Given the description of an element on the screen output the (x, y) to click on. 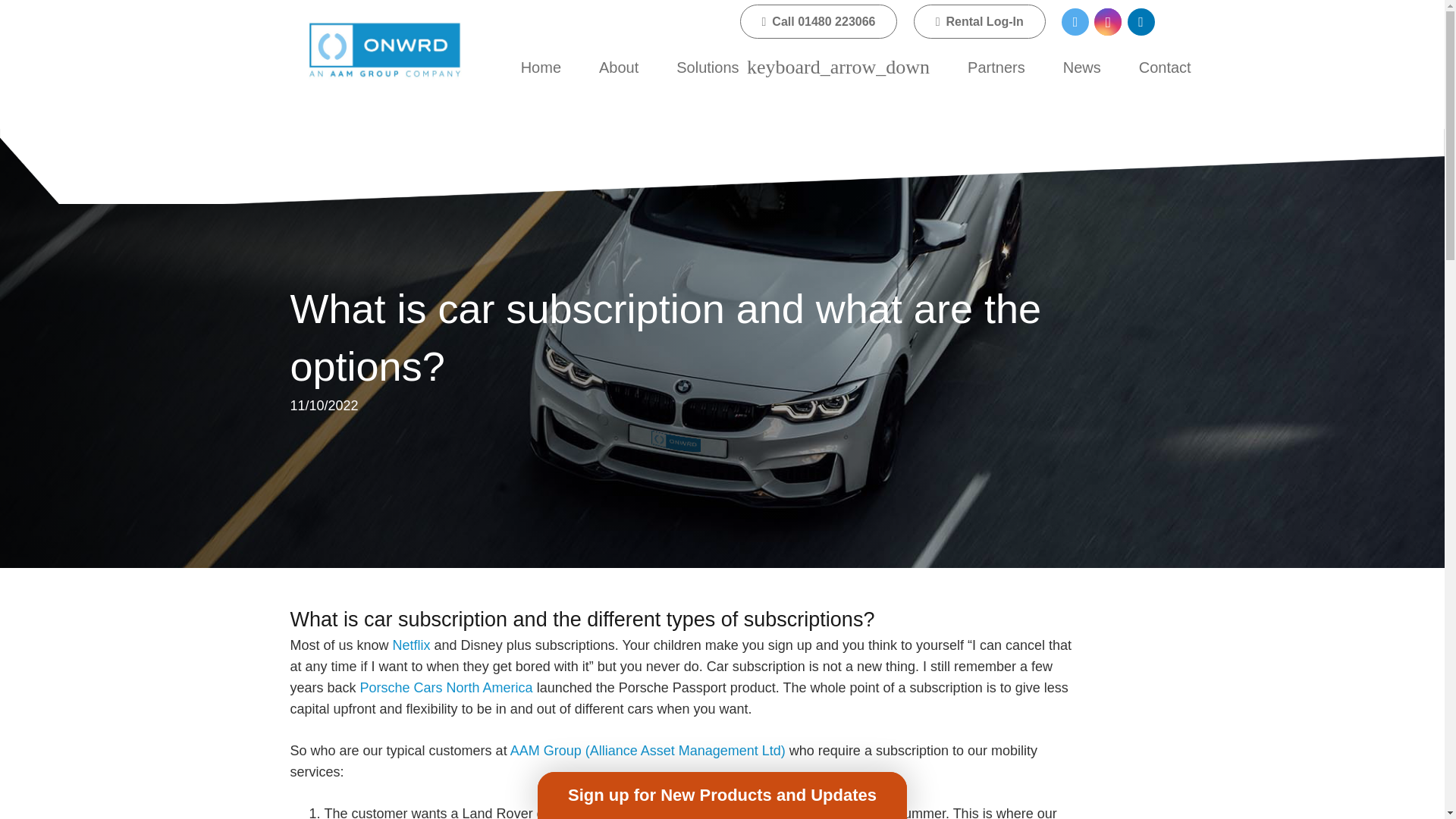
Home (540, 67)
LinkedIn (1140, 22)
Instagram (1107, 22)
Rental Log-In (979, 21)
Call 01480 223066 (818, 21)
Contact (1164, 67)
Porsche Cars North America (445, 687)
Sign up for New Products and Updates (721, 795)
News (1081, 67)
Netflix (411, 645)
